Given the description of an element on the screen output the (x, y) to click on. 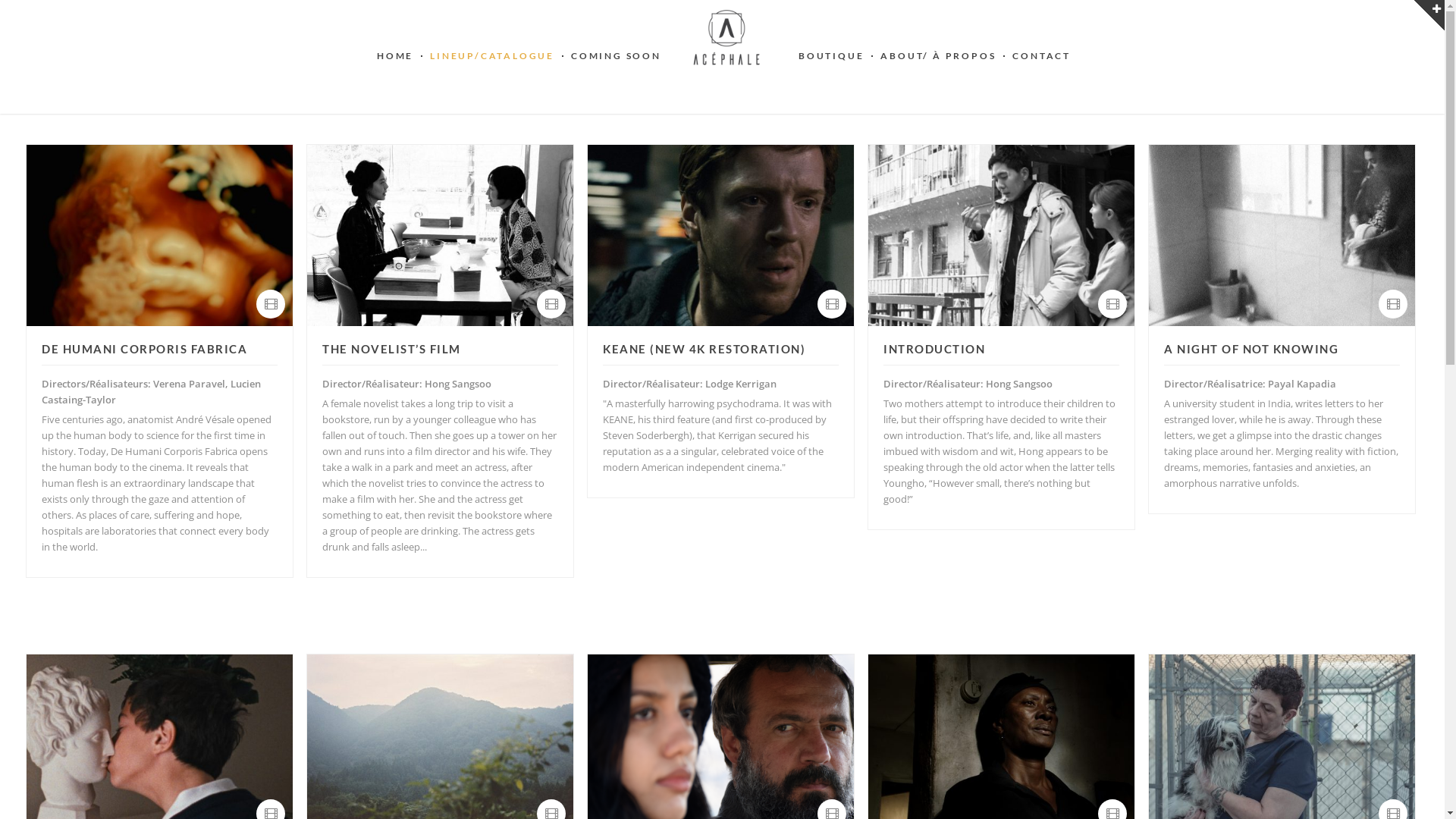
INTRODUCTION Element type: text (1001, 348)
CONTACT Element type: text (1041, 55)
Acephale Element type: hover (726, 38)
COMING SOON Element type: text (616, 55)
BOUTIQUE Element type: text (830, 55)
A NIGHT OF NOT KNOWING Element type: text (1281, 348)
DE HUMANI CORPORIS FABRICA Element type: text (159, 348)
HOME Element type: text (395, 55)
LINEUP/CATALOGUE Element type: text (492, 55)
KEANE (NEW 4K RESTORATION) Element type: text (720, 348)
